Given the description of an element on the screen output the (x, y) to click on. 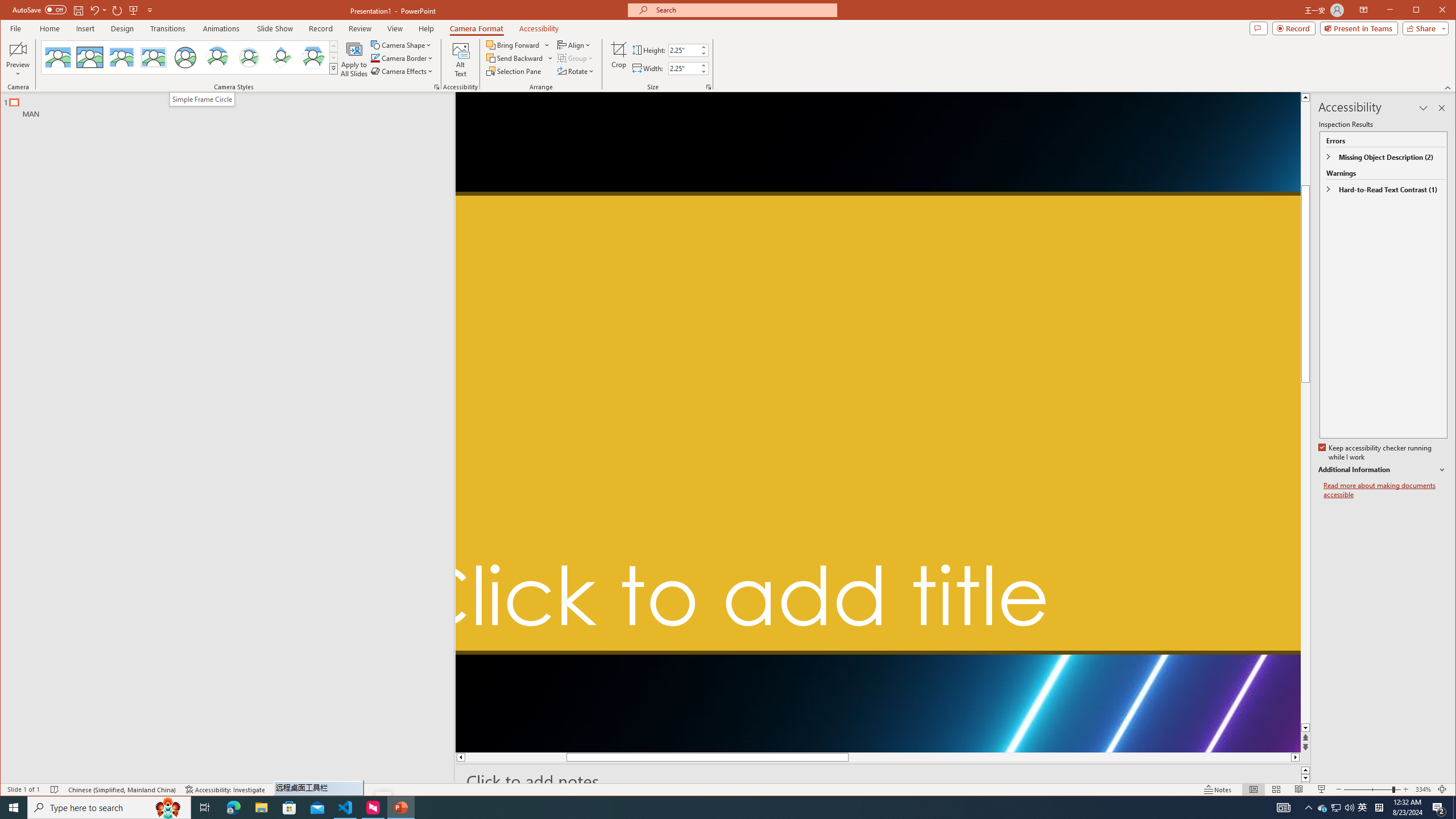
Soft Edge Rectangle (1322, 807)
Maximize (153, 57)
More (1432, 11)
Neon laser lights aligned to form a triangle (702, 64)
Cameo Width (877, 421)
